Given the description of an element on the screen output the (x, y) to click on. 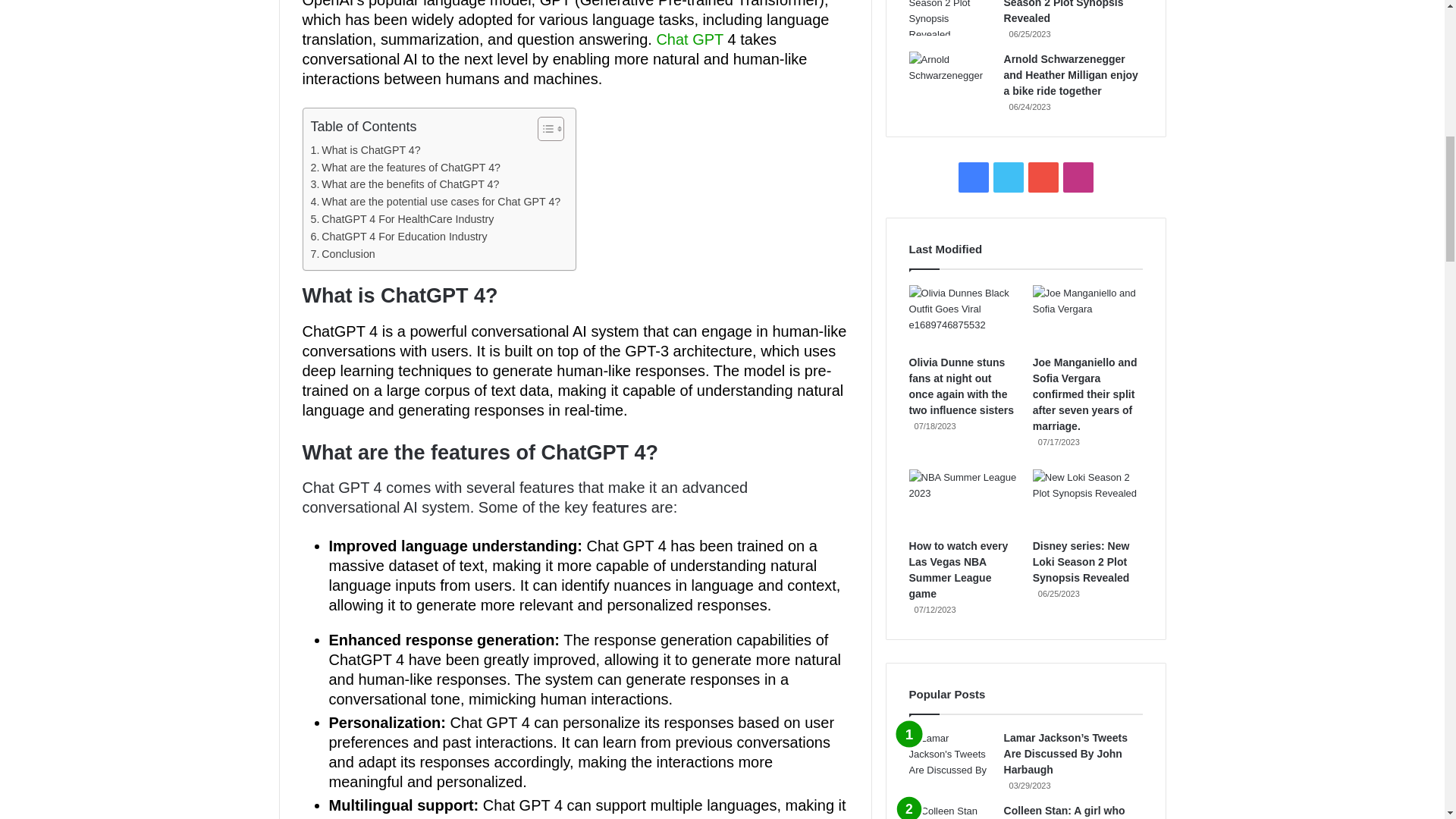
What are the potential use cases for Chat GPT 4? (435, 201)
What are the features of ChatGPT 4? (405, 167)
What are the benefits of ChatGPT 4? (405, 184)
What is ChatGPT 4? (365, 149)
